Given the description of an element on the screen output the (x, y) to click on. 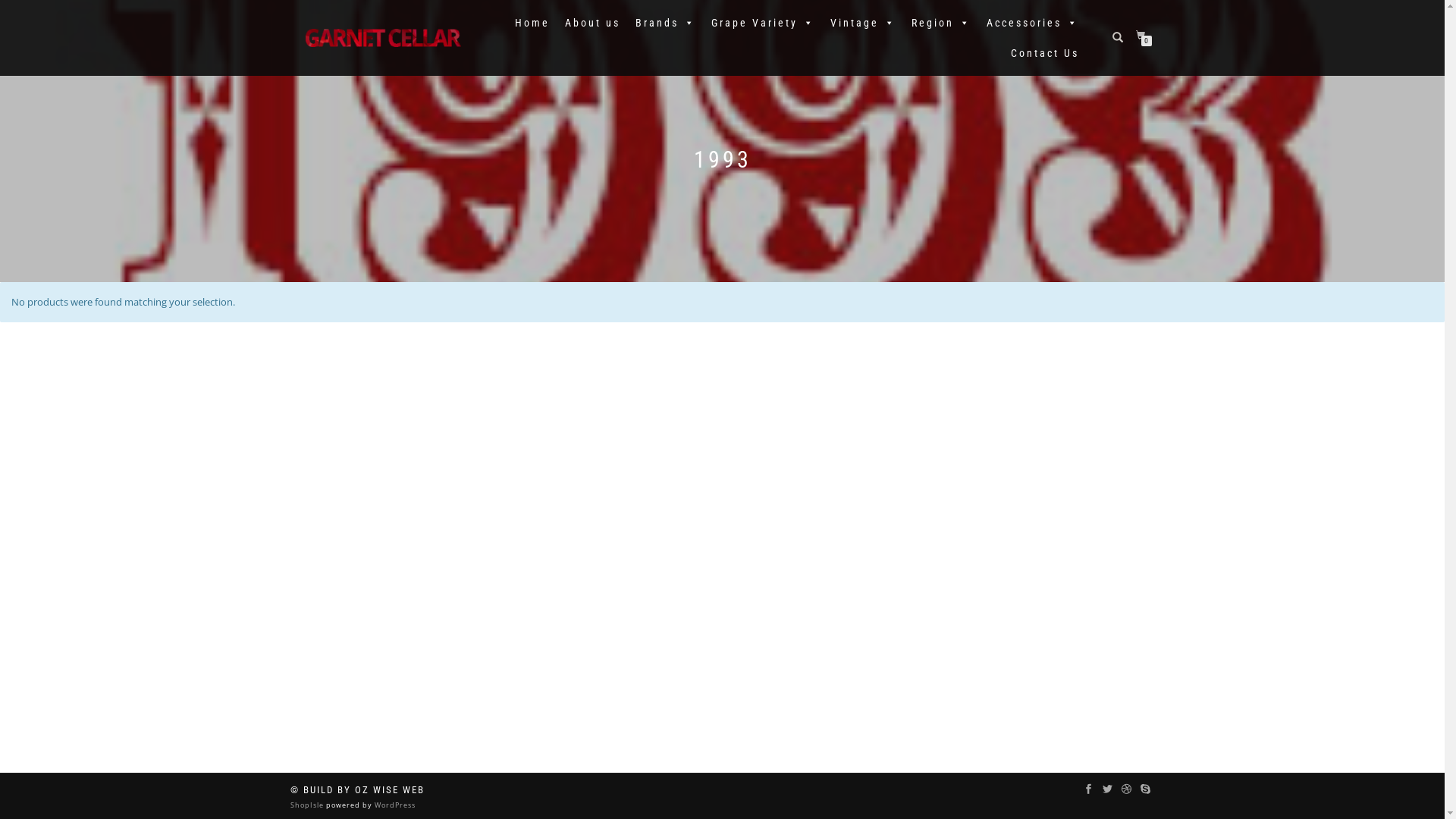
WordPress Element type: text (392, 804)
About us Element type: text (591, 22)
Grape Variety Element type: text (762, 22)
ShopIsle Element type: text (307, 804)
Region Element type: text (941, 22)
0 Element type: text (1143, 35)
Home Element type: text (531, 22)
Brands Element type: text (665, 22)
Vintage Element type: text (862, 22)
Accessories Element type: text (1031, 22)
Contact Us Element type: text (1043, 52)
